Given the description of an element on the screen output the (x, y) to click on. 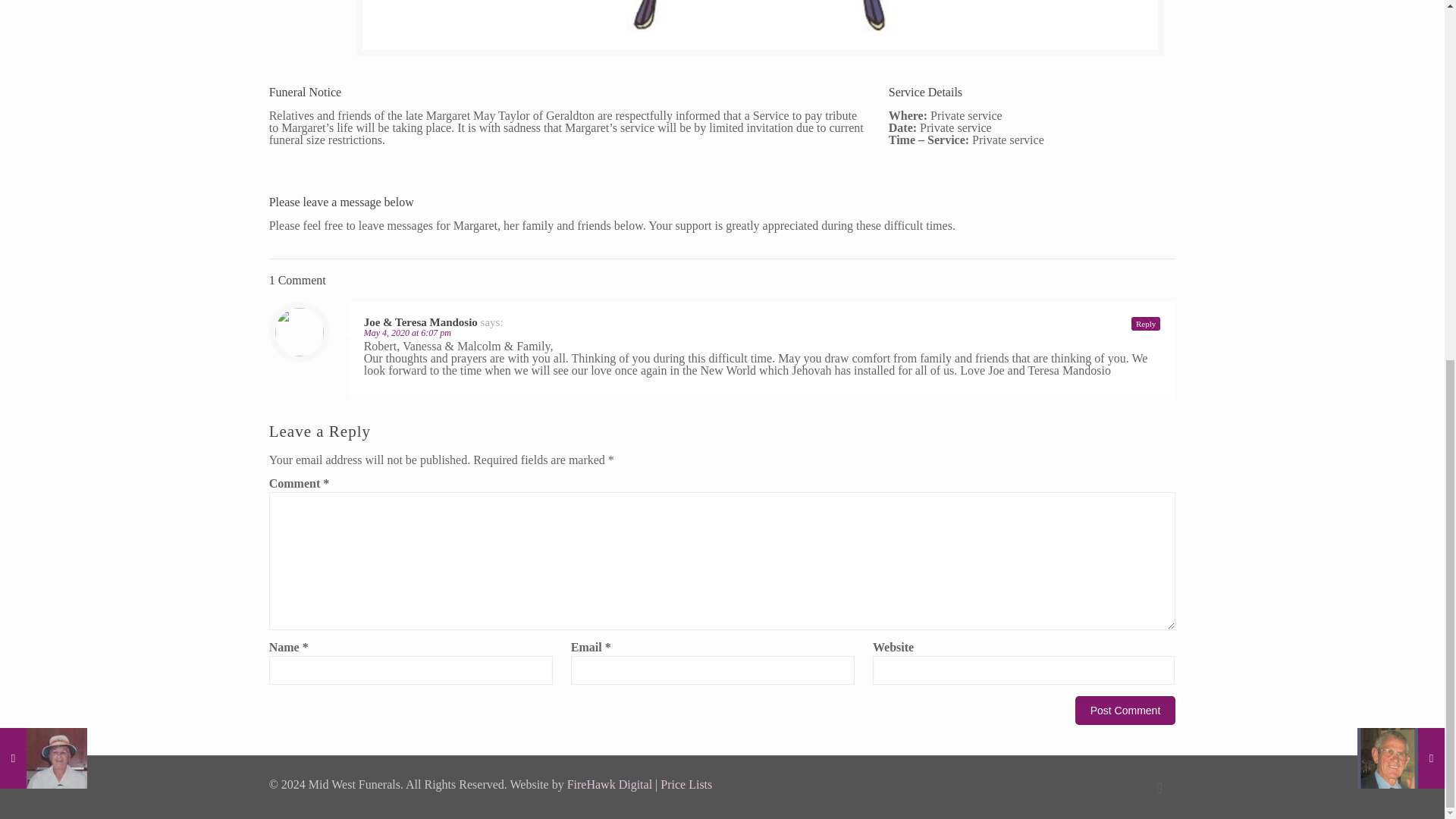
Post Comment (1125, 710)
Reply (1145, 323)
FireHawk Digital (609, 784)
May 4, 2020 at 6:07 pm (407, 332)
Price Lists (686, 784)
Post Comment (1125, 710)
